Given the description of an element on the screen output the (x, y) to click on. 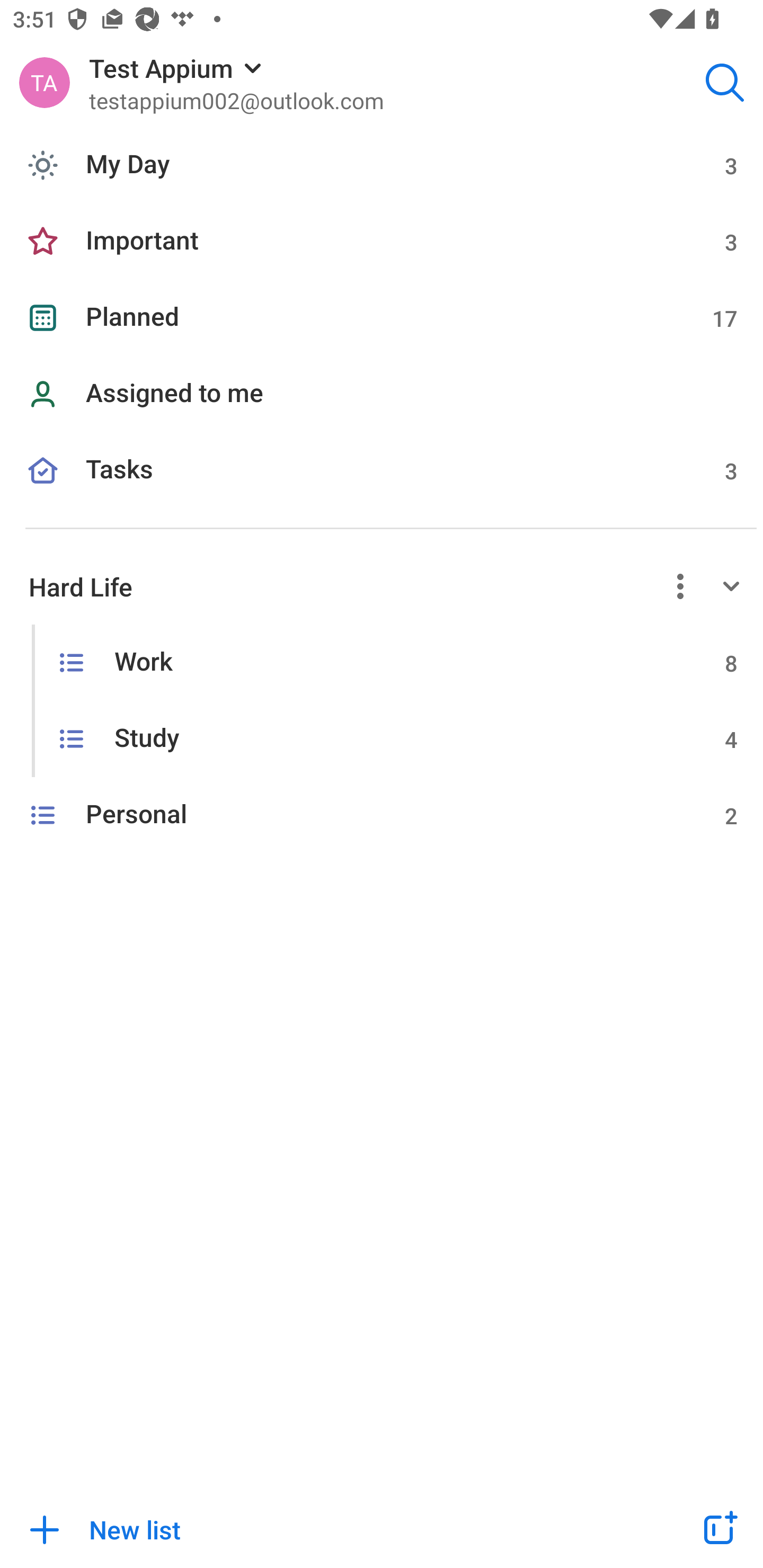
New list (328, 1529)
